Given the description of an element on the screen output the (x, y) to click on. 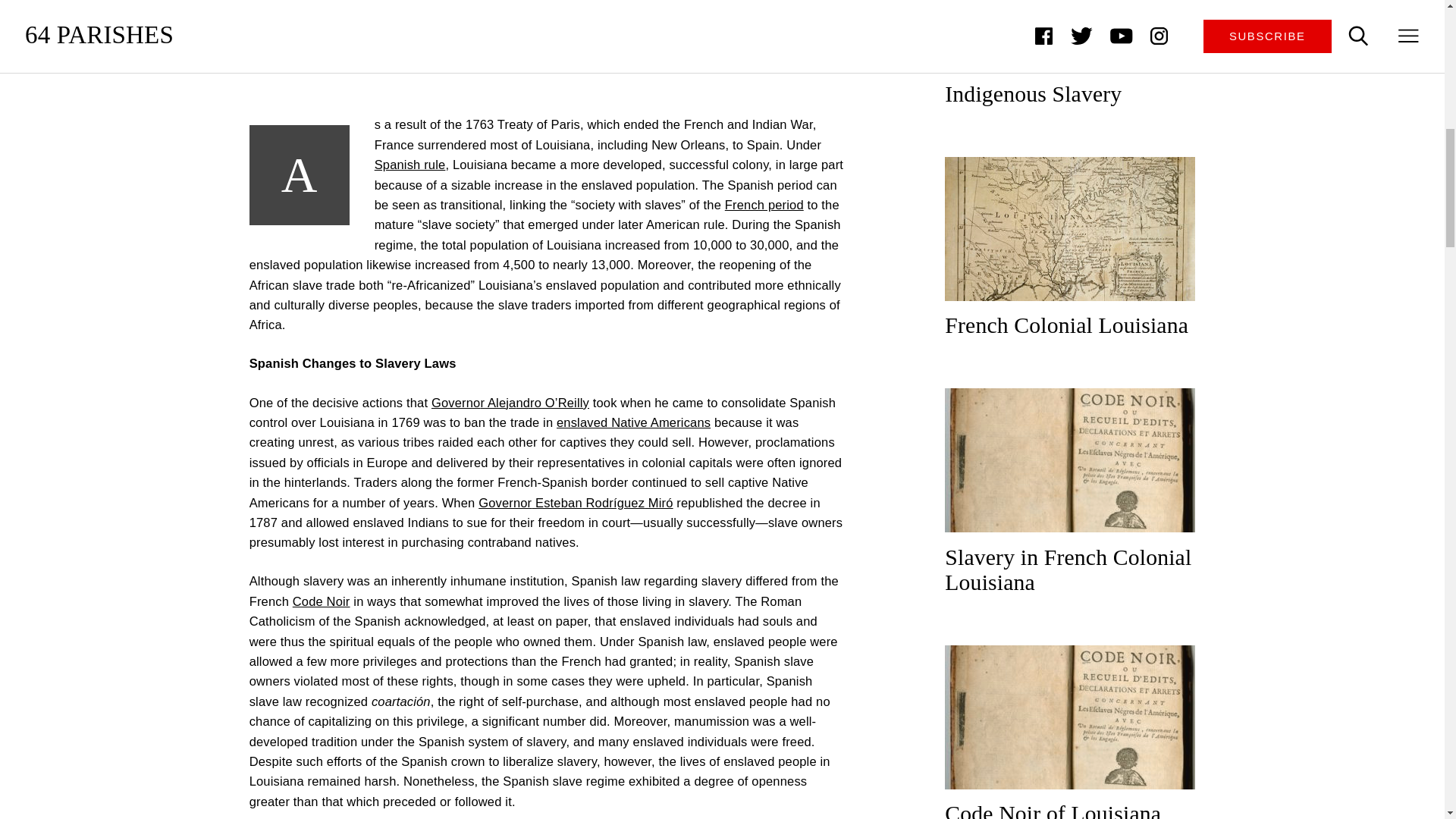
ndro (528, 402)
Aleja (499, 402)
Spanish rule (409, 164)
r (482, 402)
French period (764, 204)
Governo (455, 402)
